Given the description of an element on the screen output the (x, y) to click on. 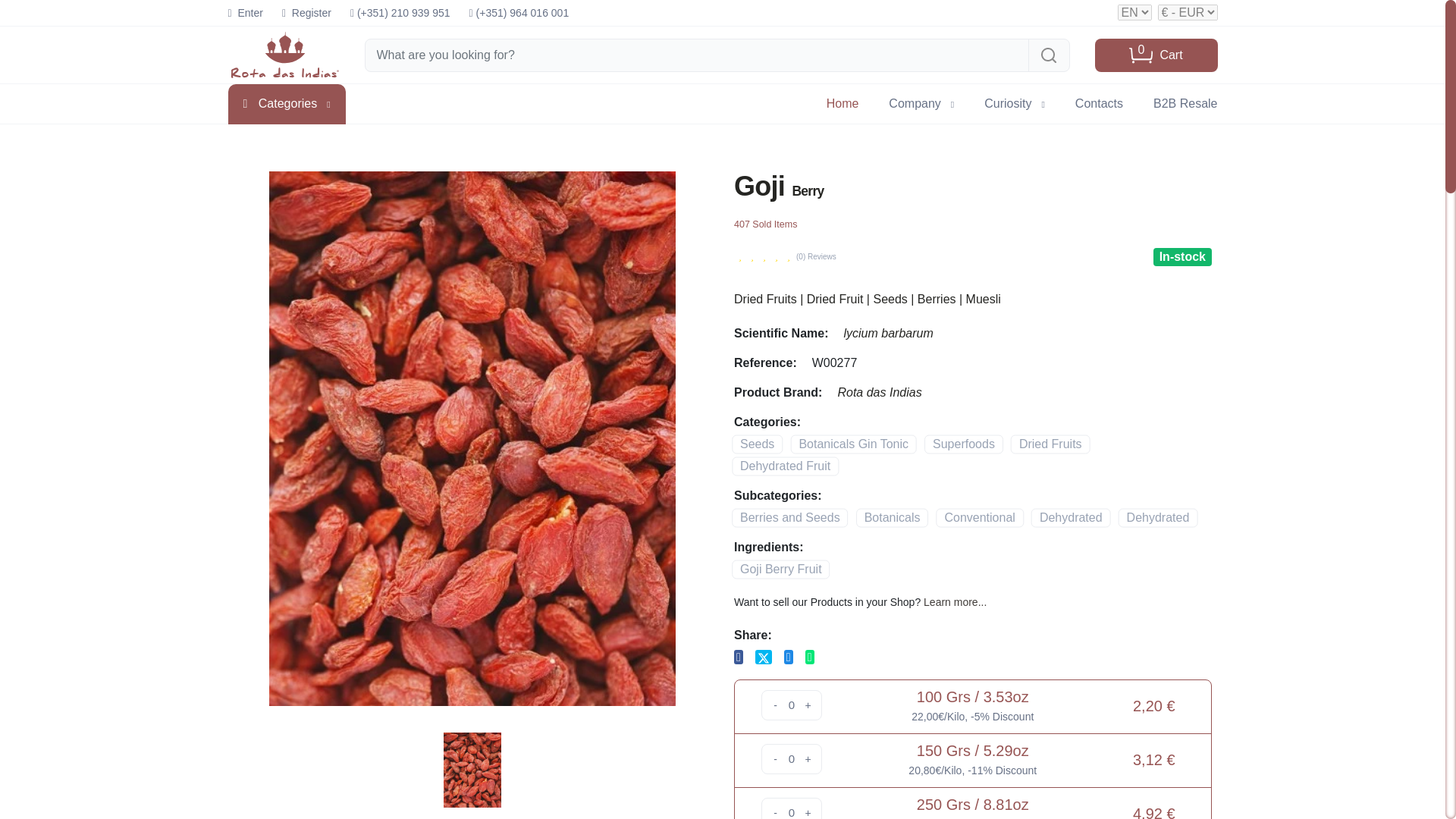
Curiosity (1014, 103)
Categories (286, 104)
0 (791, 811)
B2B Resale (1185, 103)
0 (791, 758)
Company (920, 103)
  Register (1155, 54)
  Enter (306, 12)
Contacts (244, 12)
Home (1098, 103)
Goji - Berry (843, 103)
0 (472, 769)
